Given the description of an element on the screen output the (x, y) to click on. 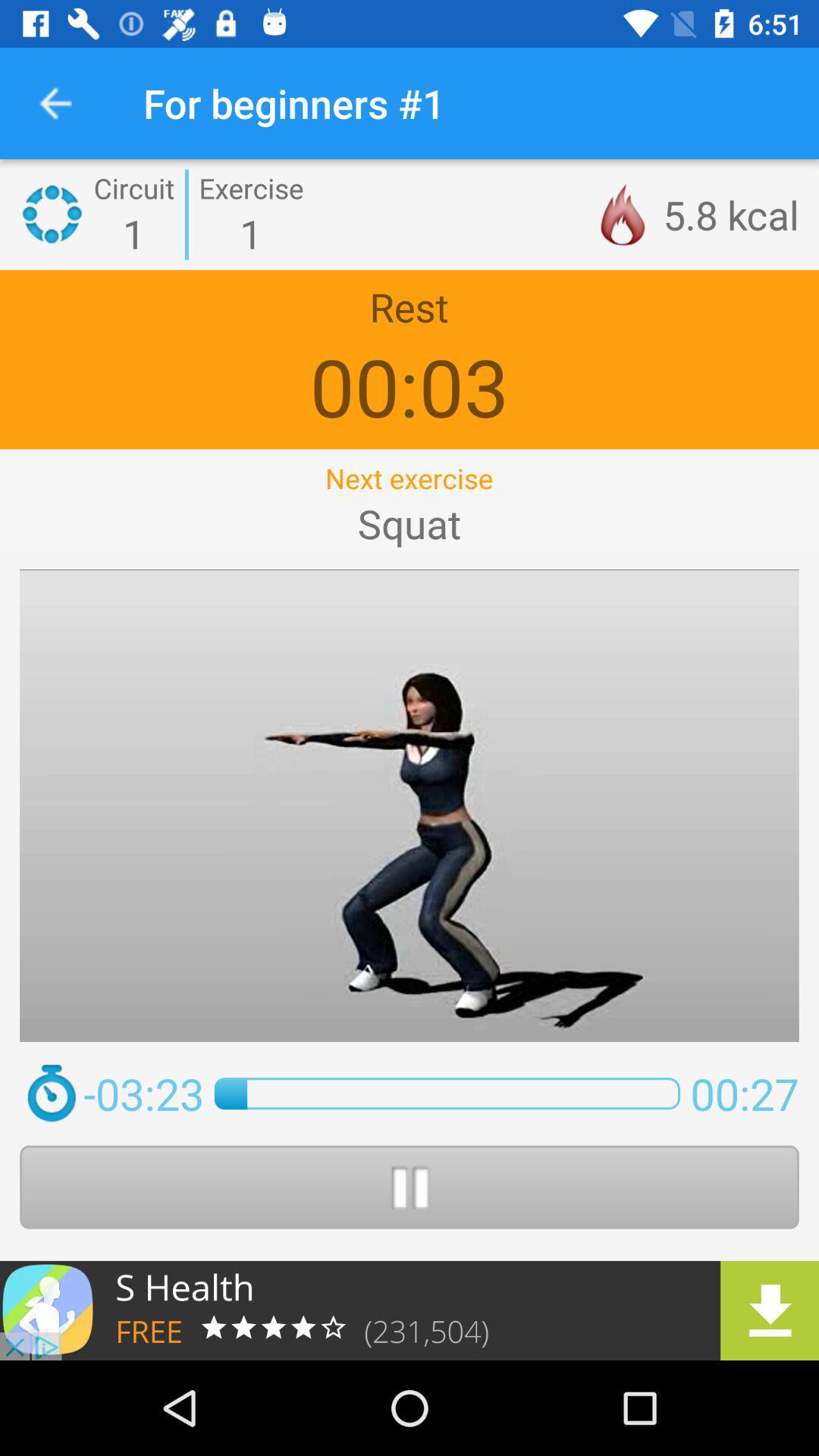
the app includes a library of follow along workouts based on high intensity circuit training (409, 1310)
